Given the description of an element on the screen output the (x, y) to click on. 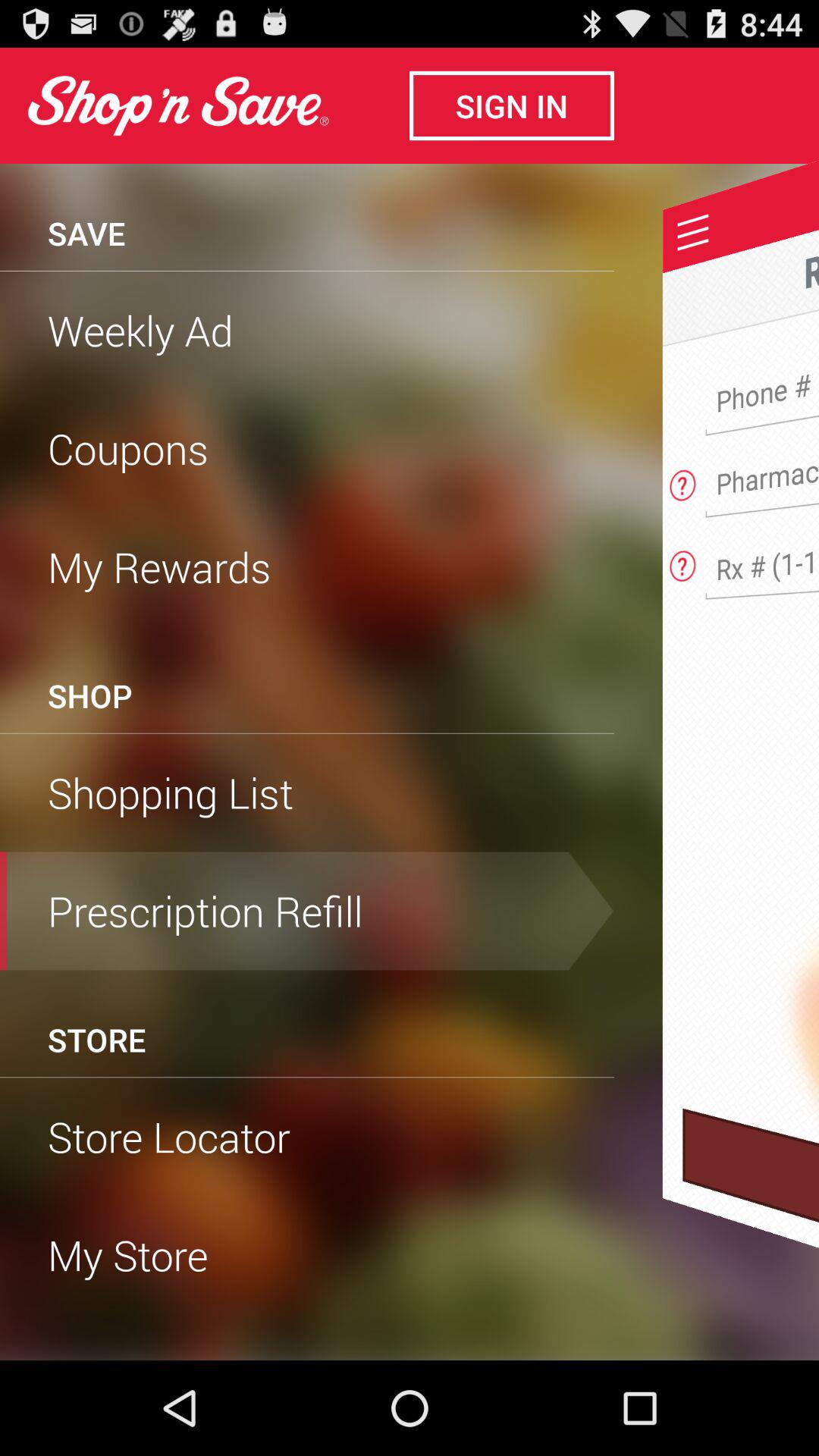
show help for writing on this field (682, 480)
